Given the description of an element on the screen output the (x, y) to click on. 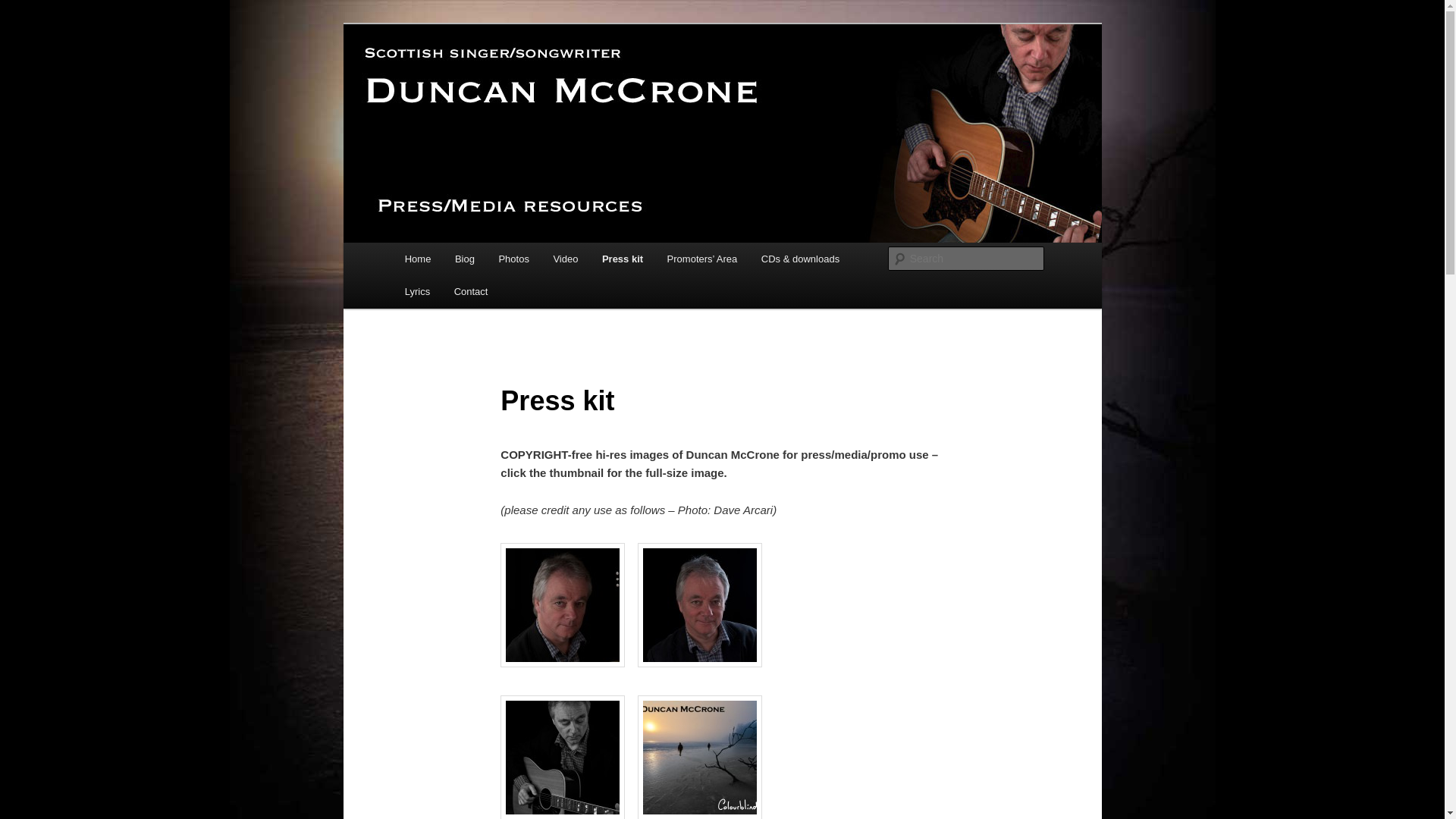
Biog (464, 258)
Lyrics (417, 291)
Press kit (622, 258)
Contact (470, 291)
Home (417, 258)
Duncan McCrone (494, 78)
Photos (513, 258)
Search (24, 8)
Video (566, 258)
